Given the description of an element on the screen output the (x, y) to click on. 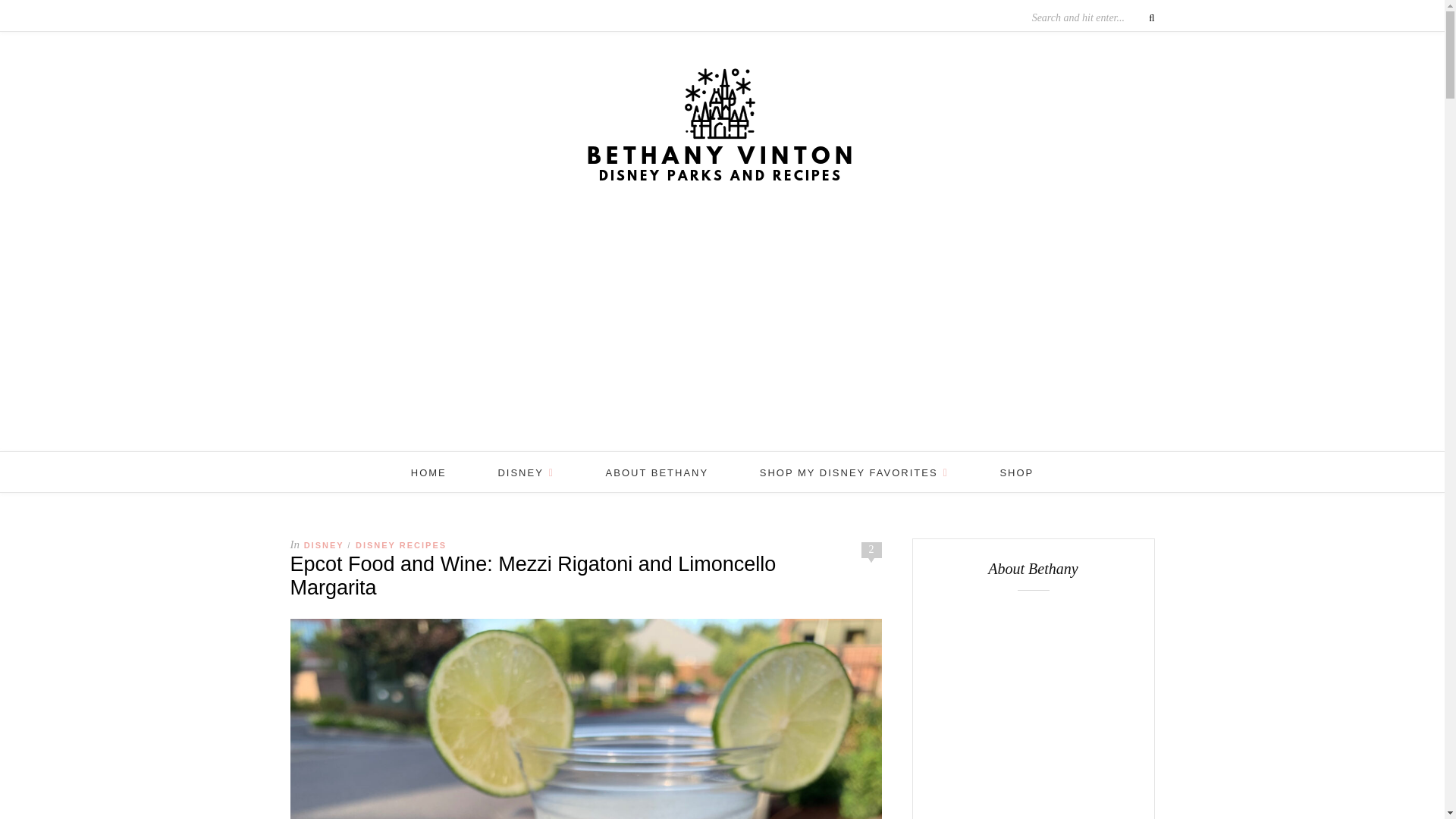
SHOP MY DISNEY FAVORITES (854, 472)
DISNEY (525, 472)
ABOUT BETHANY (657, 472)
